Given the description of an element on the screen output the (x, y) to click on. 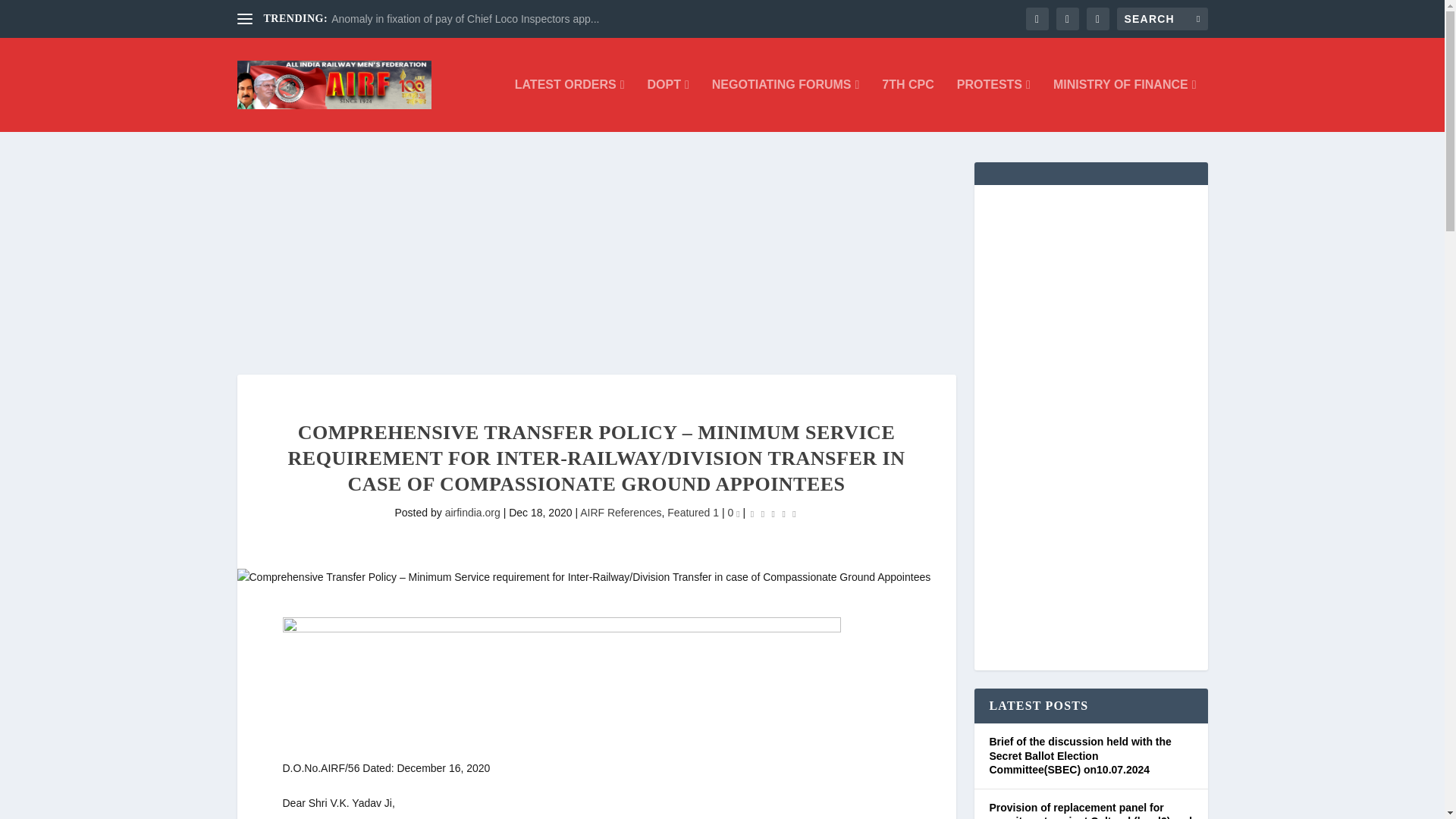
LATEST ORDERS (569, 104)
Posts by airfindia.org (472, 512)
Search for: (1161, 18)
Anomaly in fixation of pay of Chief Loco Inspectors app... (464, 19)
Rating: 0.00 (772, 513)
